Given the description of an element on the screen output the (x, y) to click on. 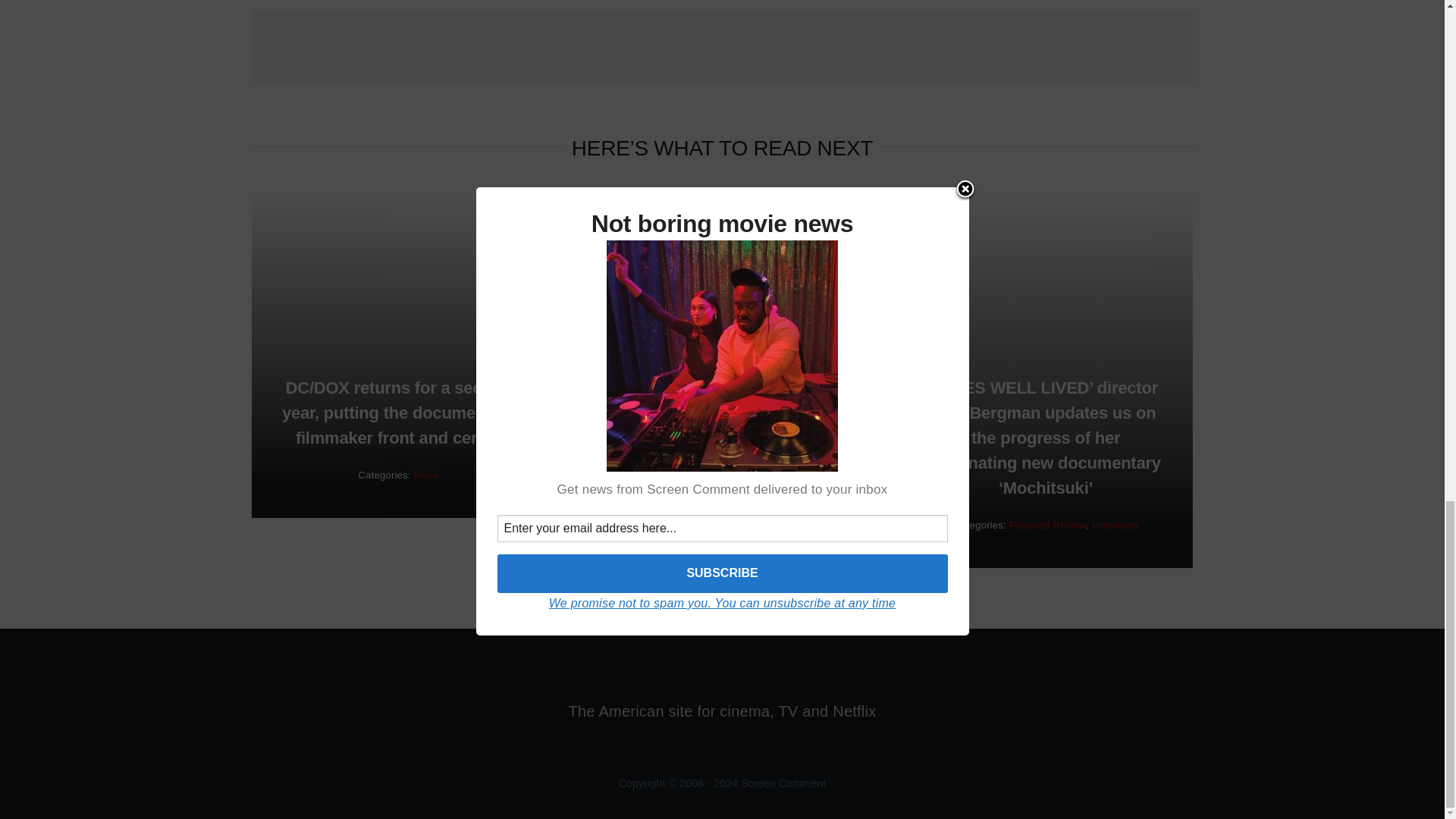
Featured Review (697, 471)
Movies (621, 482)
In Theaters Now (779, 471)
Interviews (1115, 524)
News (426, 474)
Featured Review (1047, 524)
